Given the description of an element on the screen output the (x, y) to click on. 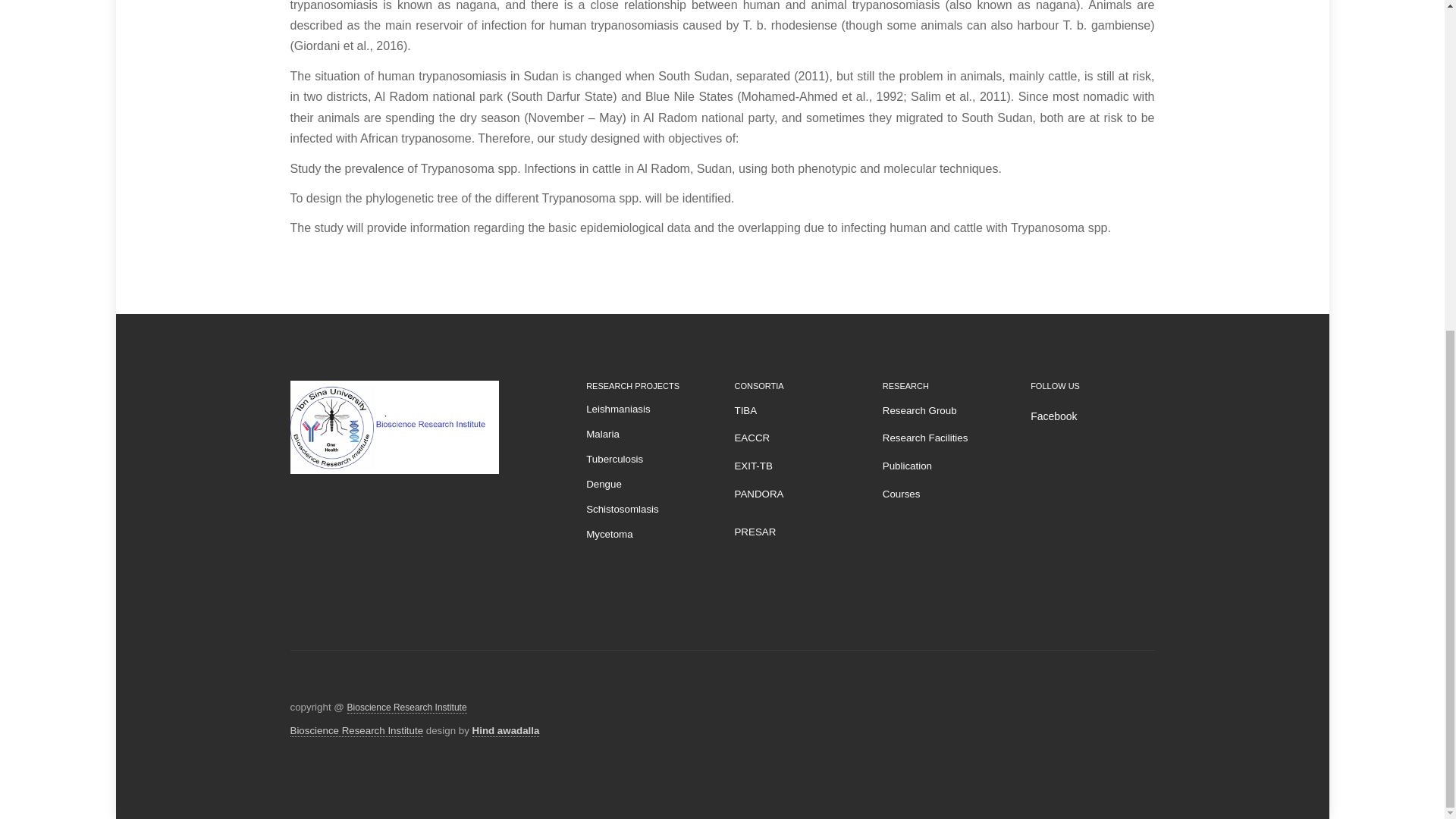
Powered By T3 Framework (1131, 710)
Bioscience Research Institute (356, 730)
Bioscience Research Institute (407, 707)
